Given the description of an element on the screen output the (x, y) to click on. 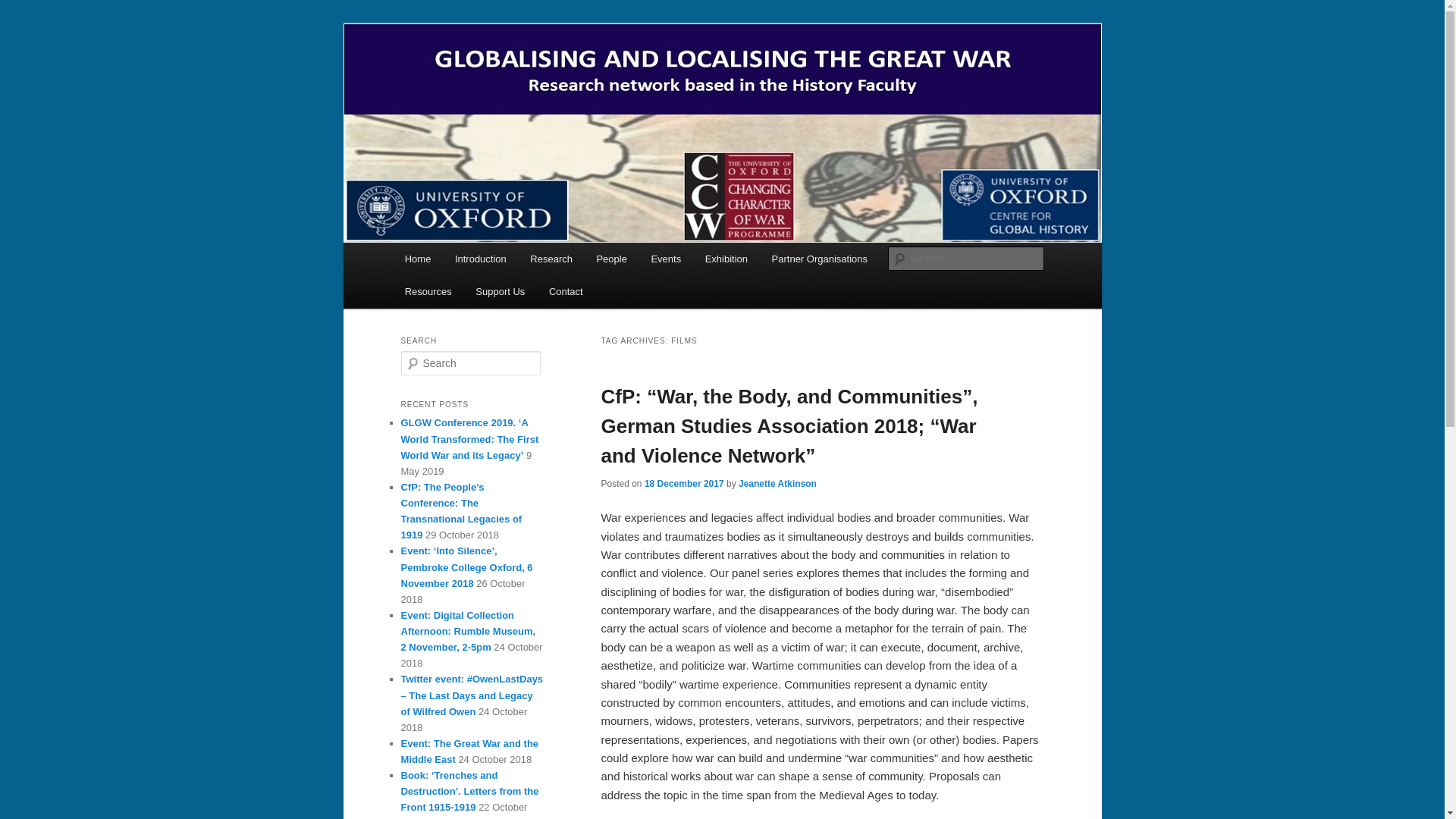
Home (417, 258)
Search (24, 8)
Events (666, 258)
Introduction (480, 258)
People (612, 258)
Globalising and Localising the Great War (622, 78)
Research (551, 258)
